Given the description of an element on the screen output the (x, y) to click on. 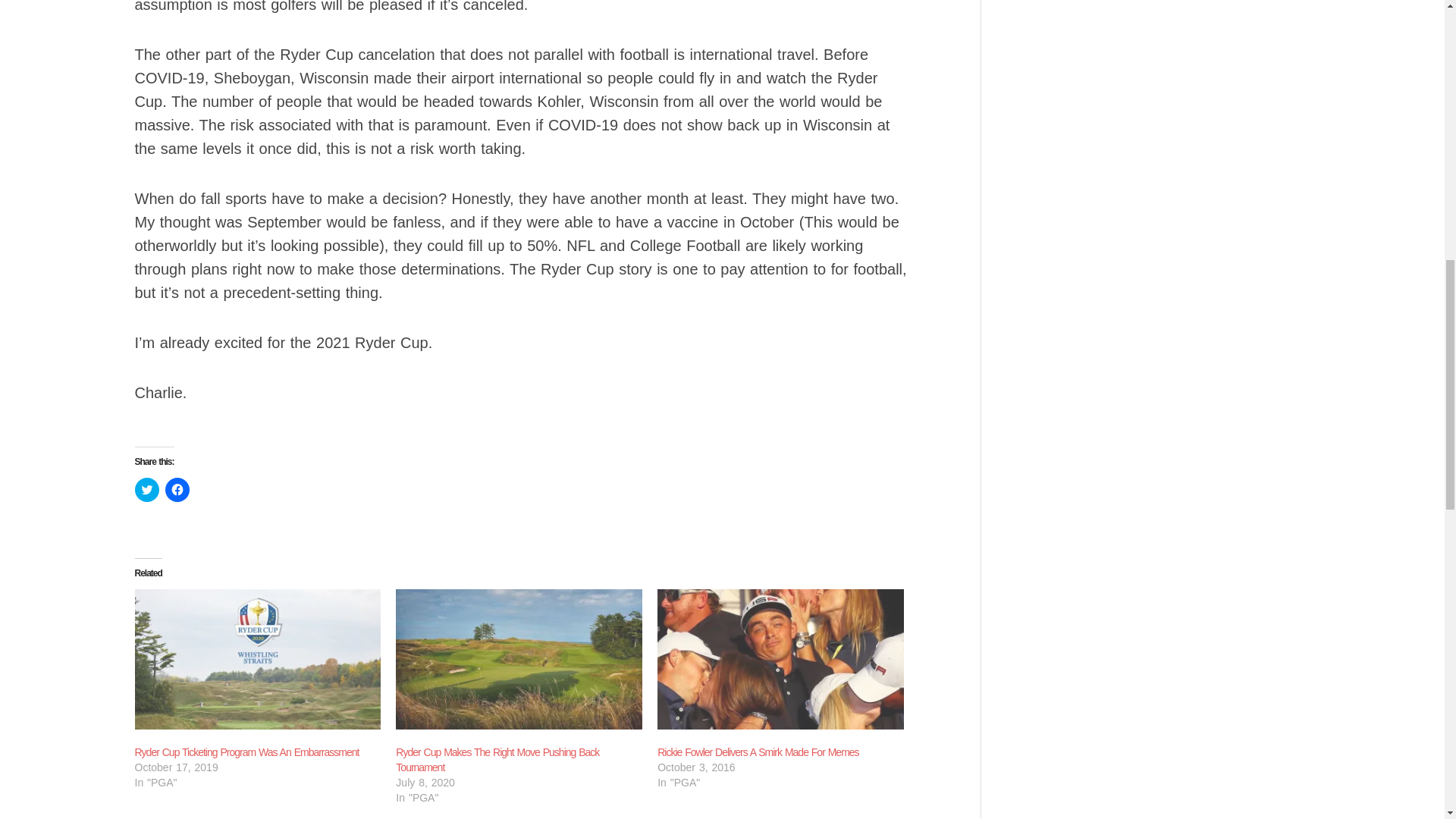
Ryder Cup Makes The Right Move Pushing Back Tournament (497, 759)
Click to share on Twitter (146, 489)
Ryder Cup Makes The Right Move Pushing Back Tournament (519, 659)
Click to share on Facebook (177, 489)
Ryder Cup Ticketing Program Was An Embarrassment (258, 659)
Rickie Fowler Delivers A Smirk Made For Memes (781, 659)
Rickie Fowler Delivers A Smirk Made For Memes (758, 752)
Ryder Cup Ticketing Program Was An Embarrassment (247, 752)
Rickie Fowler Delivers A Smirk Made For Memes (758, 752)
Ryder Cup Ticketing Program Was An Embarrassment (247, 752)
Ryder Cup Makes The Right Move Pushing Back Tournament (497, 759)
